Given the description of an element on the screen output the (x, y) to click on. 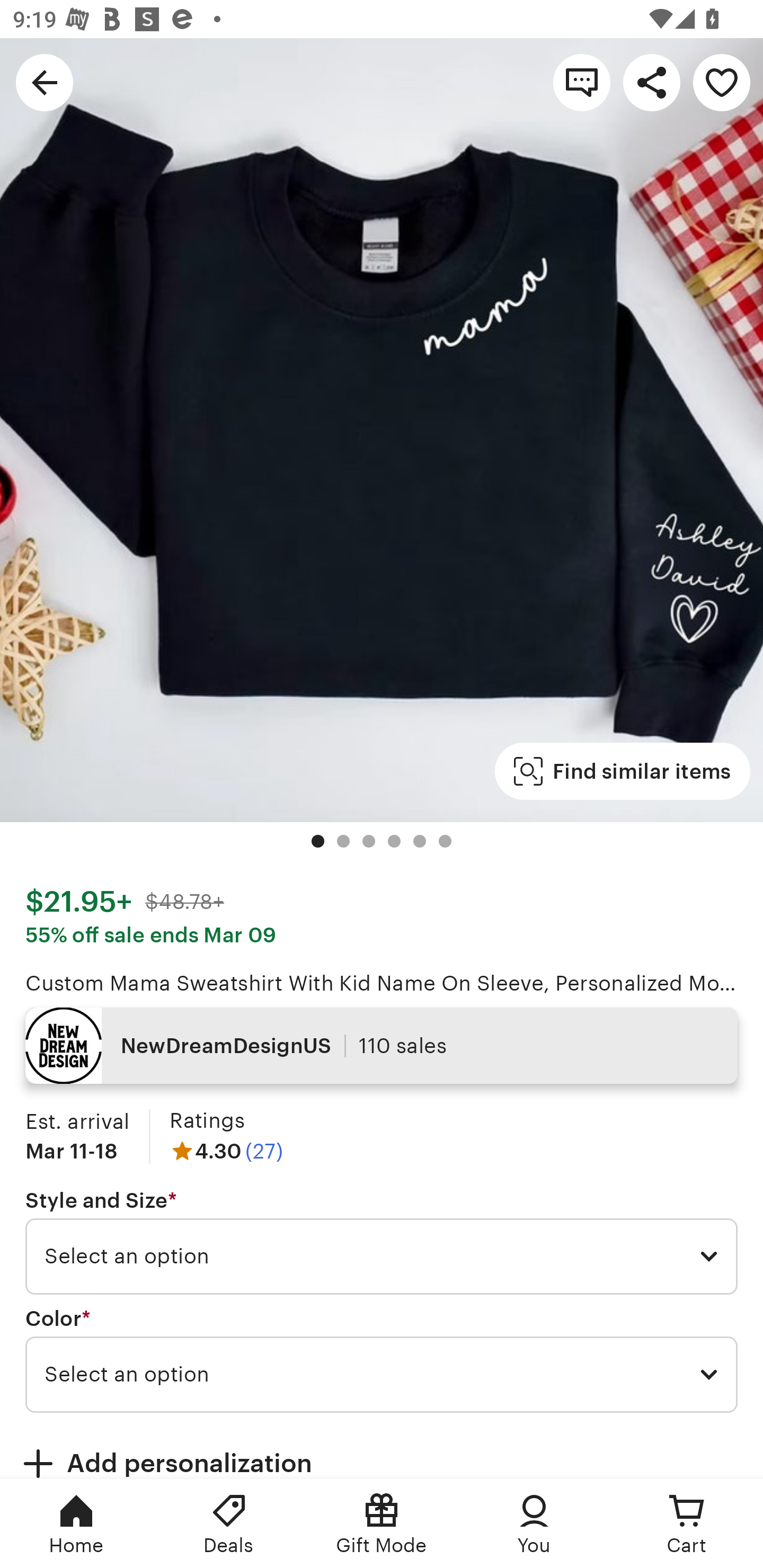
Navigate up (44, 81)
Contact shop (581, 81)
Share (651, 81)
Find similar items (622, 771)
NewDreamDesignUS 110 sales (381, 1045)
Ratings (206, 1120)
4.30 (27) (226, 1150)
Style and Size * Required Select an option (381, 1241)
Select an option (381, 1256)
Color * Required Select an option (381, 1359)
Select an option (381, 1373)
Add personalization Add personalization Required (381, 1451)
Deals (228, 1523)
Gift Mode (381, 1523)
You (533, 1523)
Cart (686, 1523)
